Given the description of an element on the screen output the (x, y) to click on. 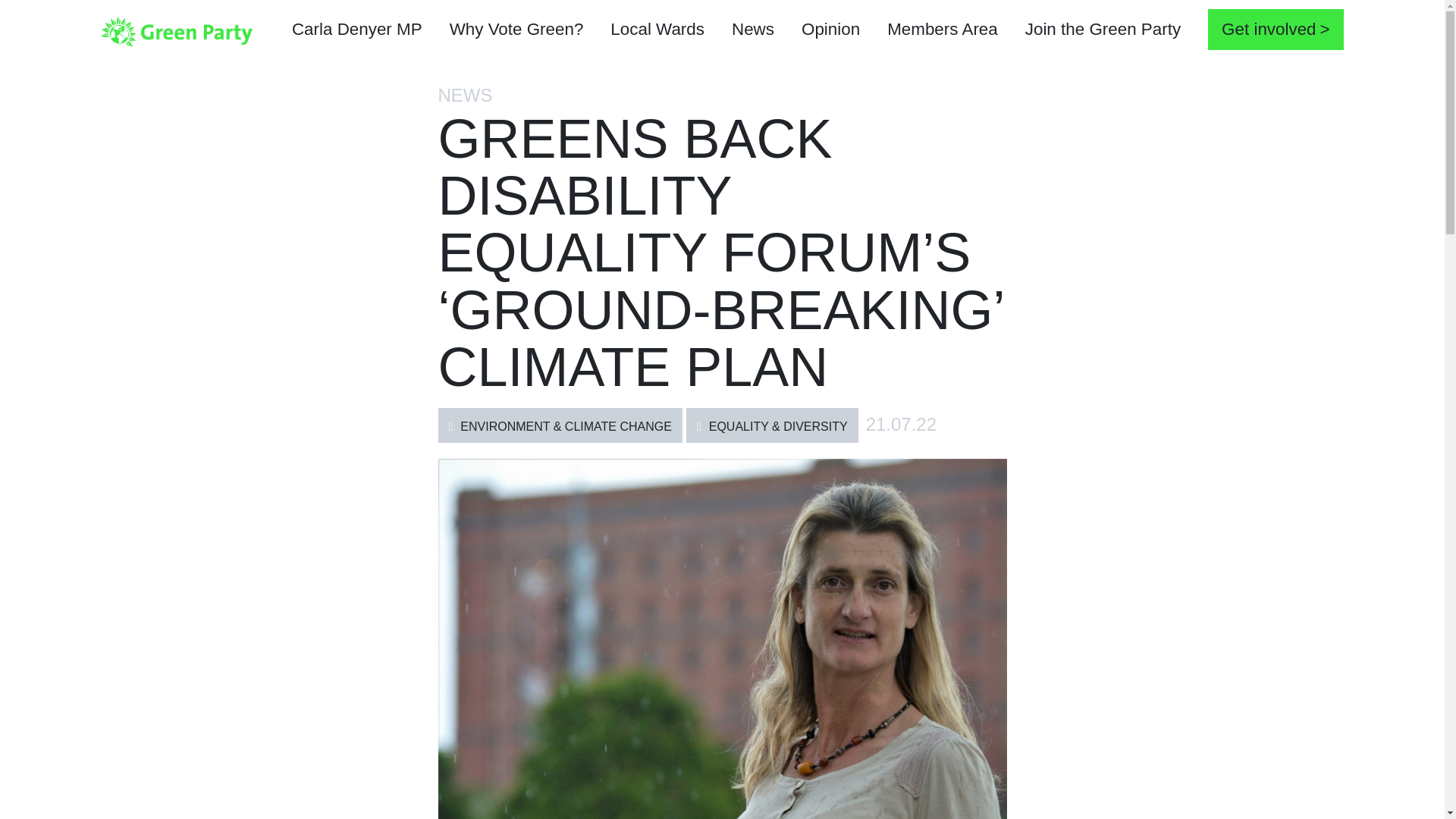
Members Area (942, 31)
News (752, 31)
Local Wards (656, 31)
Carla Denyer MP (356, 31)
Get involved (1275, 29)
Why Vote Green? (515, 31)
Join the Green Party (1102, 31)
Green Party Logo (175, 30)
Opinion (830, 31)
